Given the description of an element on the screen output the (x, y) to click on. 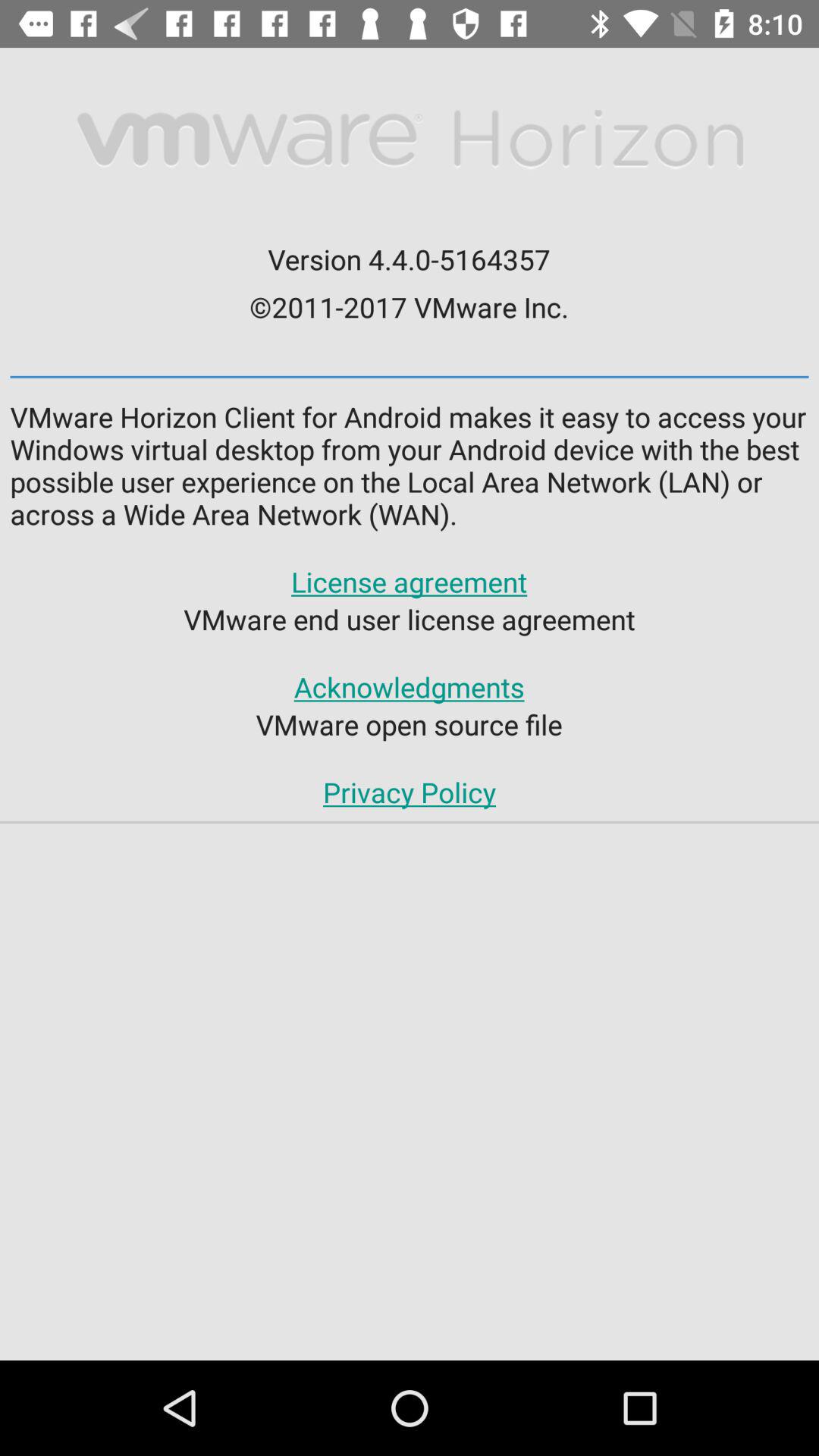
turn on vmware horizon client item (409, 465)
